Given the description of an element on the screen output the (x, y) to click on. 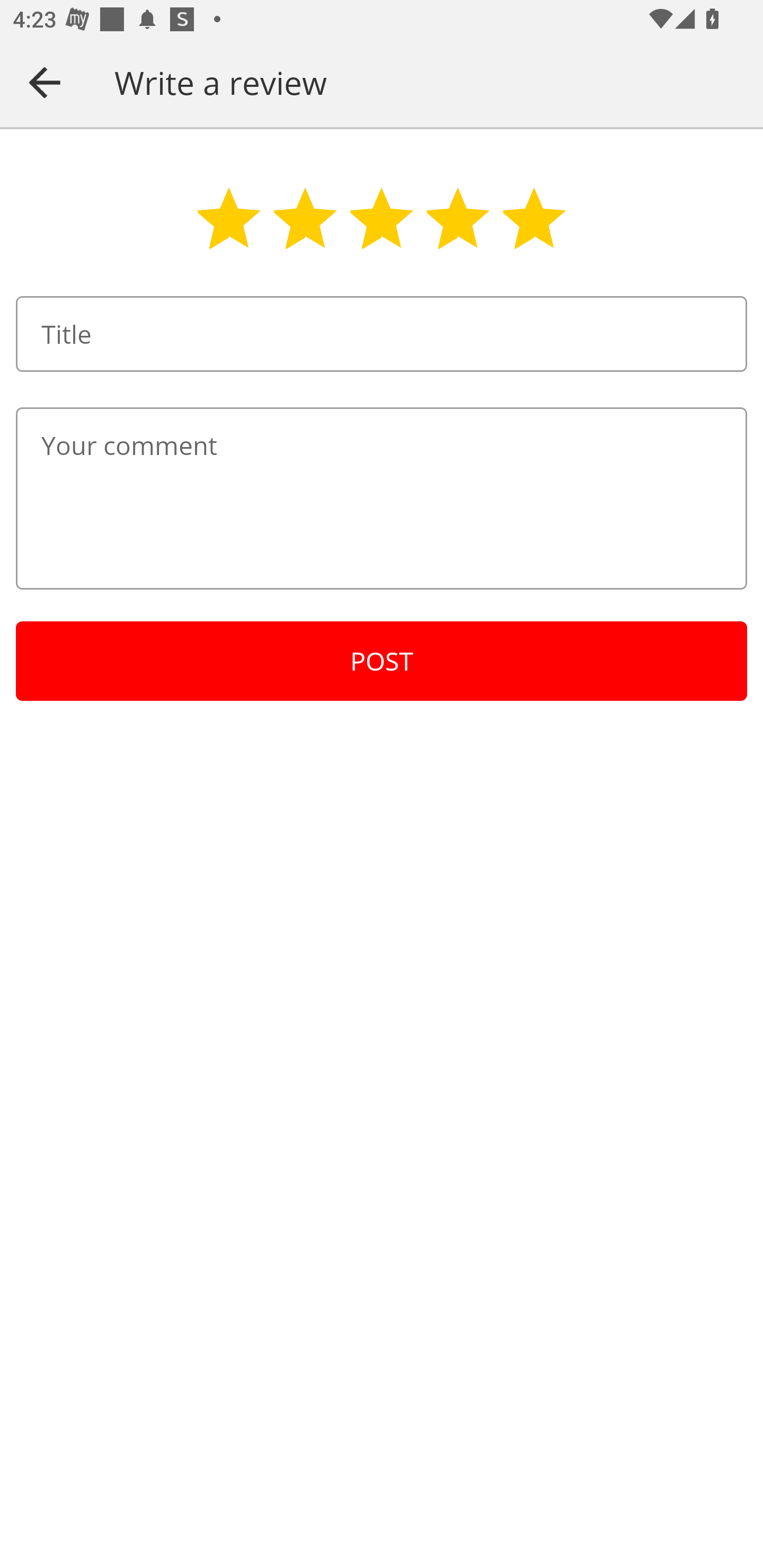
Navigate up (44, 82)
Title (381, 333)
Your comment (381, 498)
POST (381, 660)
